Given the description of an element on the screen output the (x, y) to click on. 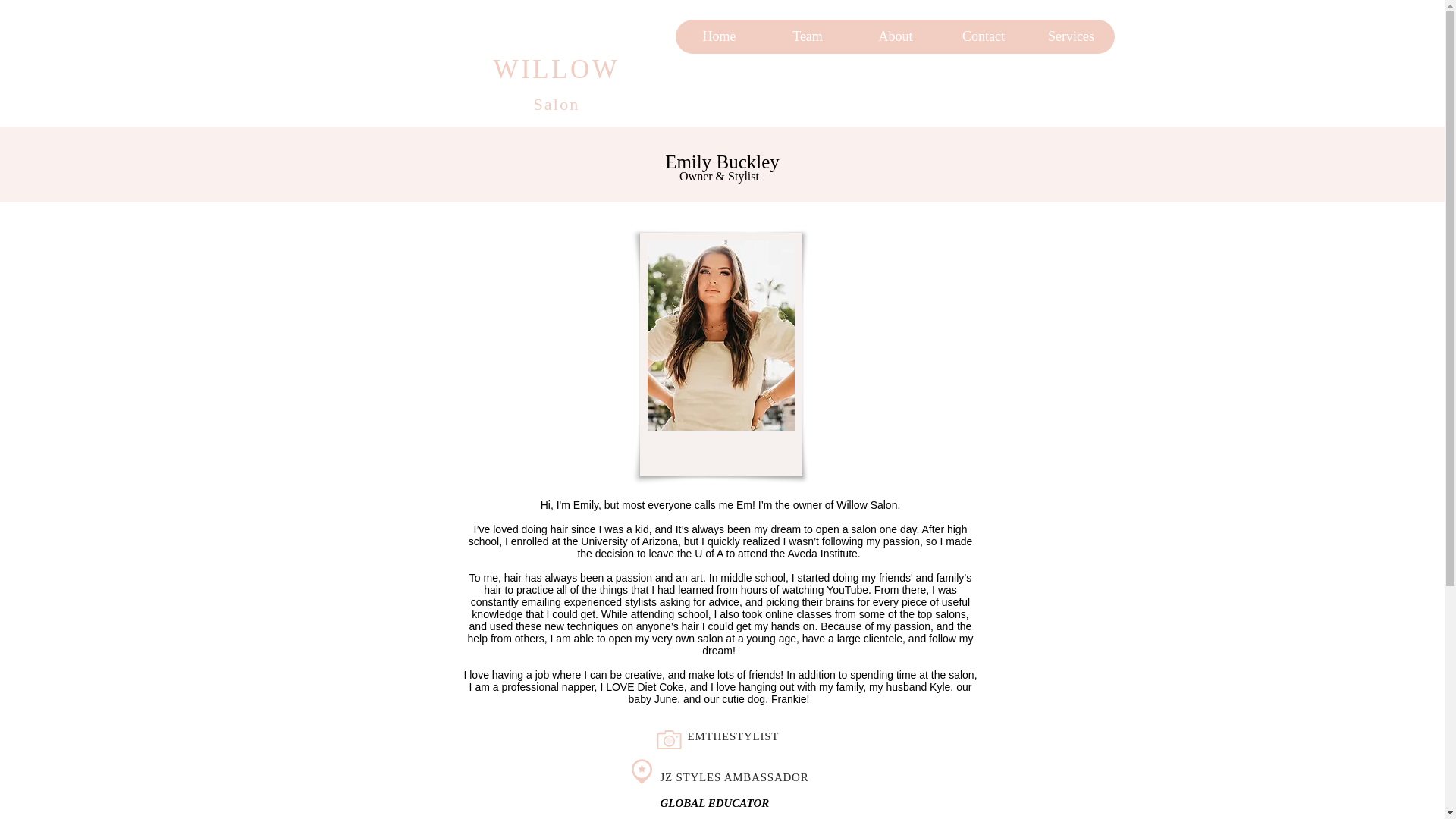
Home (718, 36)
Contact (982, 36)
Services (1069, 36)
About (894, 36)
